Given the description of an element on the screen output the (x, y) to click on. 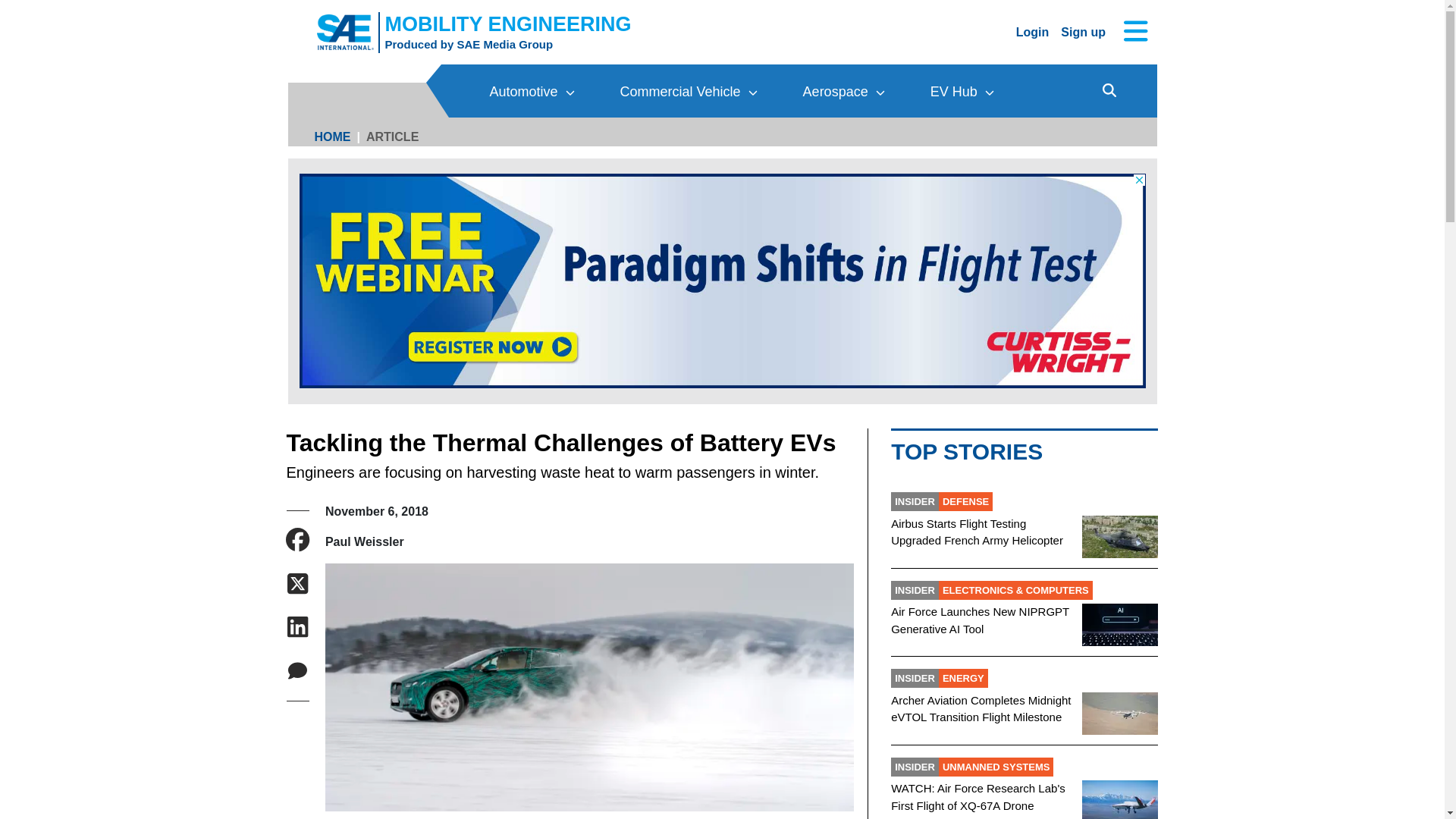
Aerospace (844, 91)
Sign up (1083, 31)
Automotive (532, 91)
Login (1032, 31)
EV Hub (962, 91)
Commercial Vehicle (469, 43)
